Given the description of an element on the screen output the (x, y) to click on. 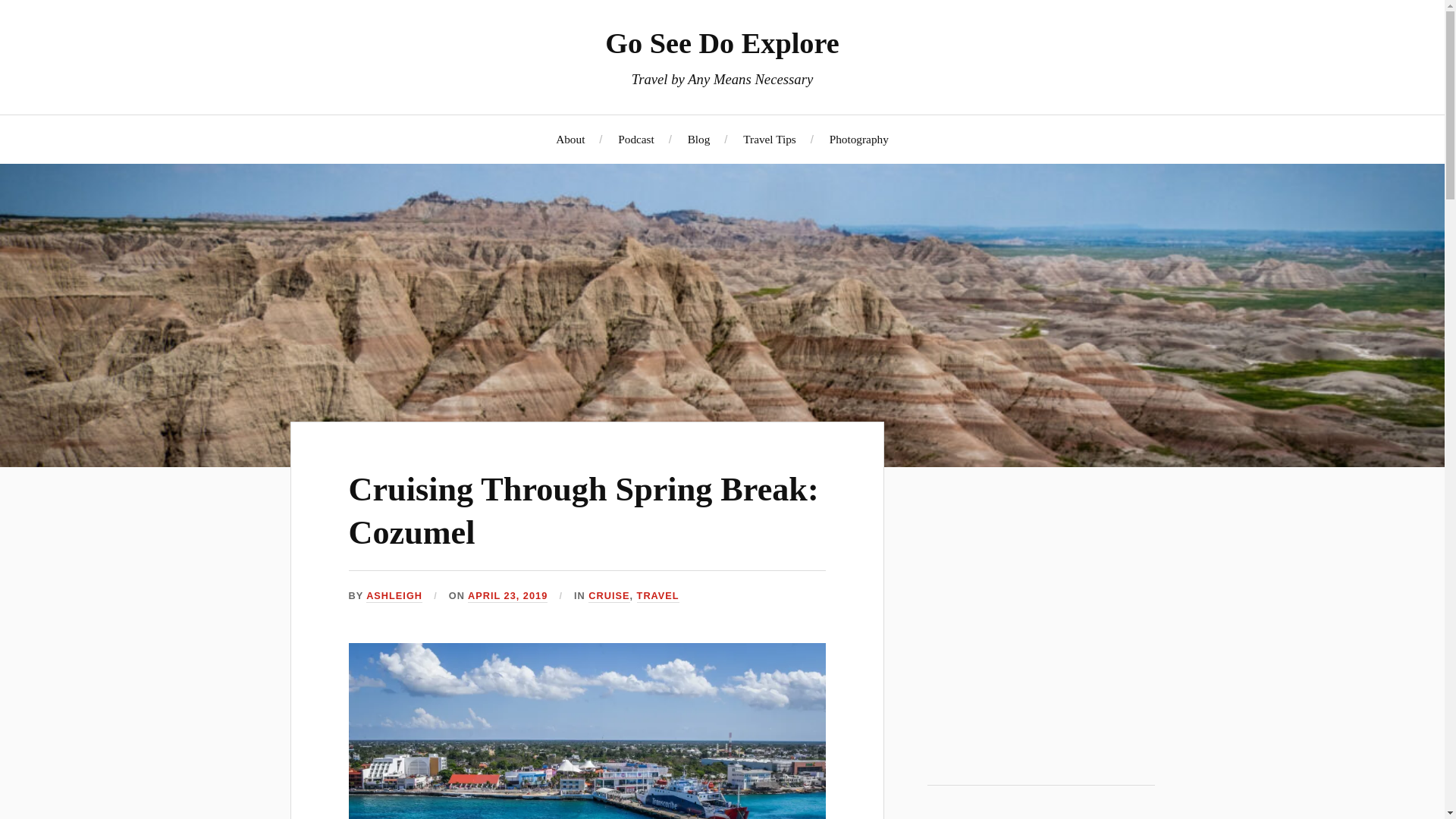
CRUISE (608, 595)
Posts by Ashleigh (394, 595)
Go See Do Explore (721, 42)
APRIL 23, 2019 (507, 595)
Go See Do Explore (1040, 631)
Travel Tips (769, 138)
Cruising Through Spring Break: Cozumel (583, 510)
ASHLEIGH (394, 595)
Photography (858, 138)
TRAVEL (658, 595)
